Given the description of an element on the screen output the (x, y) to click on. 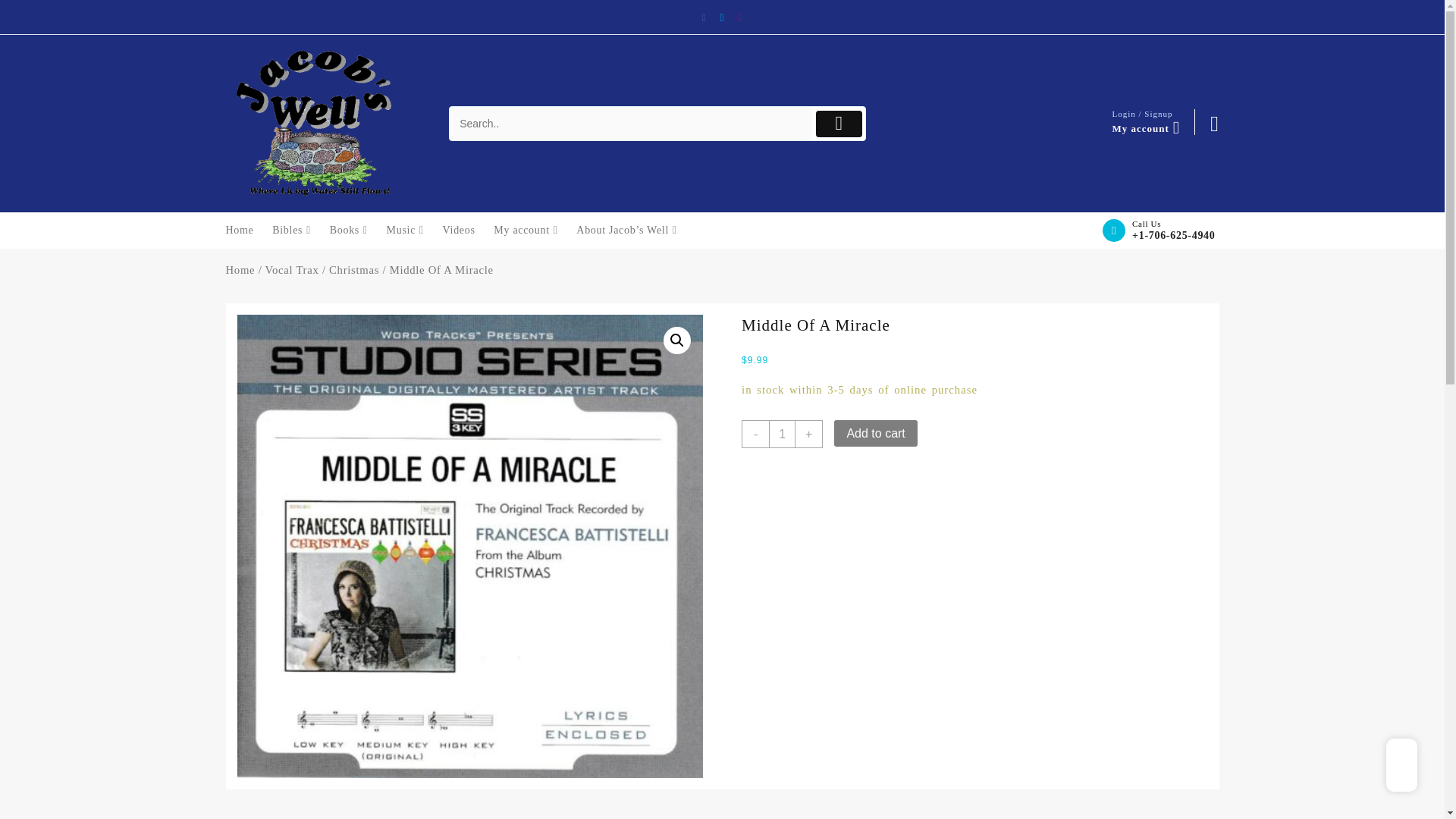
Search (630, 123)
Submit (838, 123)
1 (781, 433)
